Given the description of an element on the screen output the (x, y) to click on. 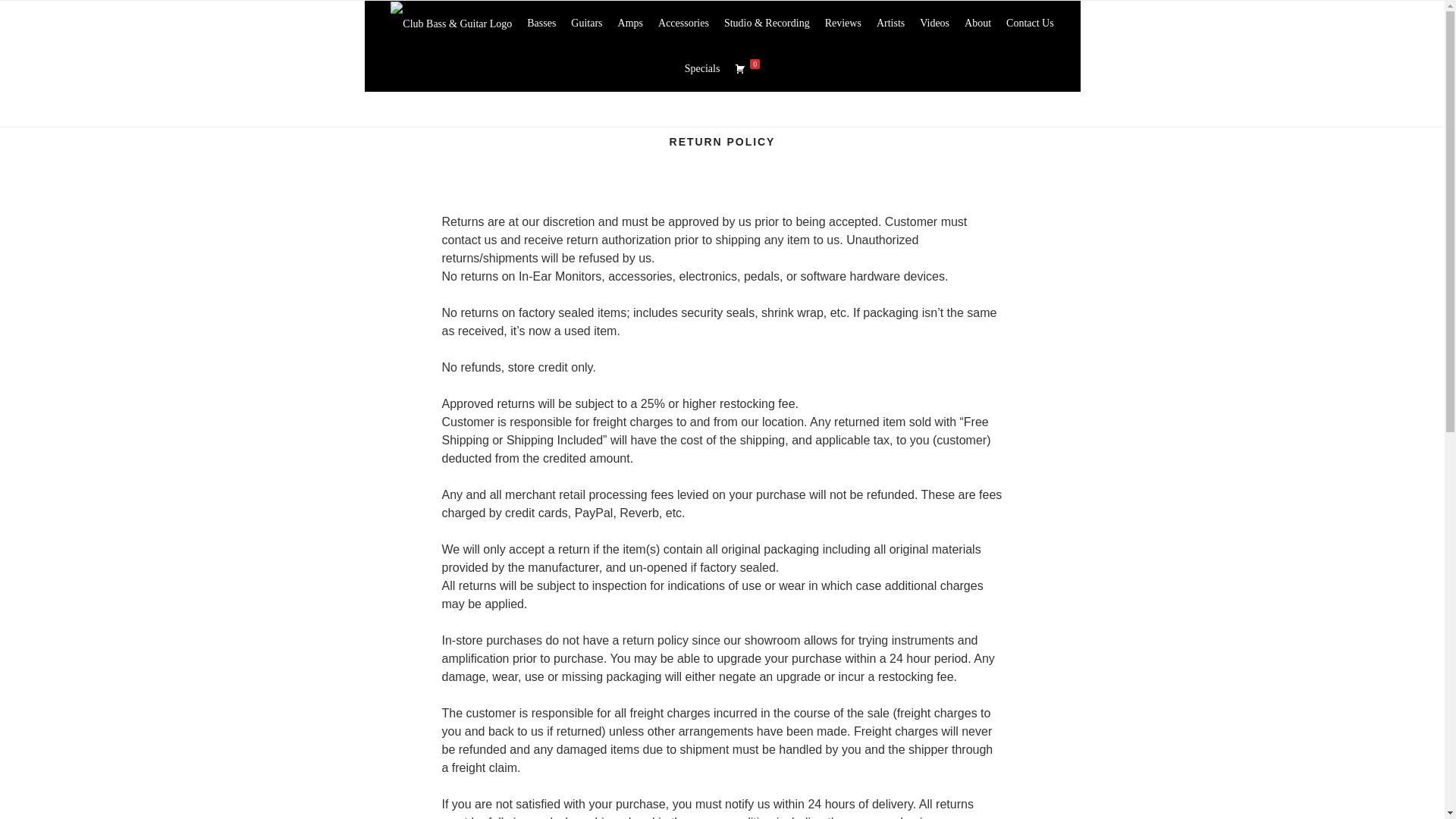
Basses (541, 22)
Accessories (683, 22)
Guitars (586, 22)
